Given the description of an element on the screen output the (x, y) to click on. 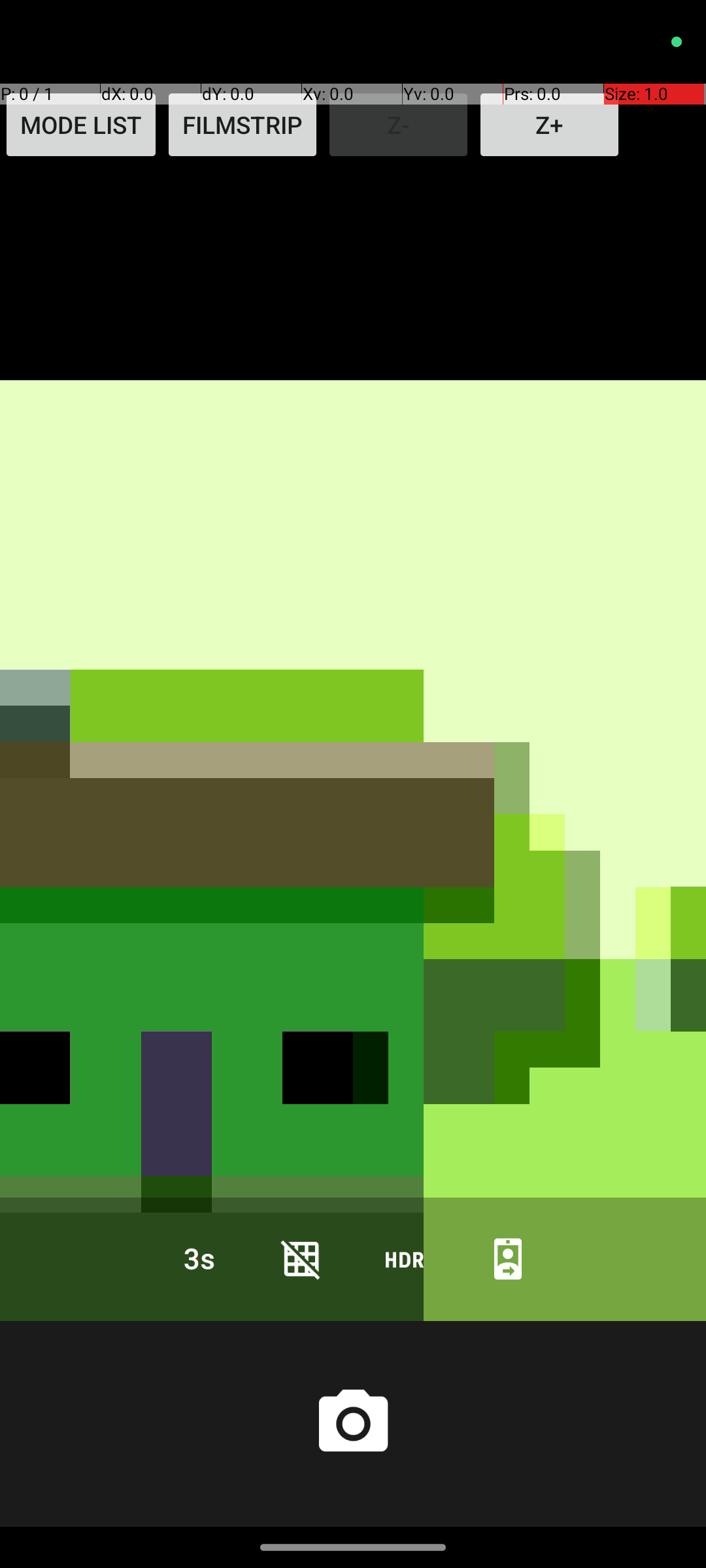
HDR on Element type: android.widget.ImageButton (404, 1258)
